Given the description of an element on the screen output the (x, y) to click on. 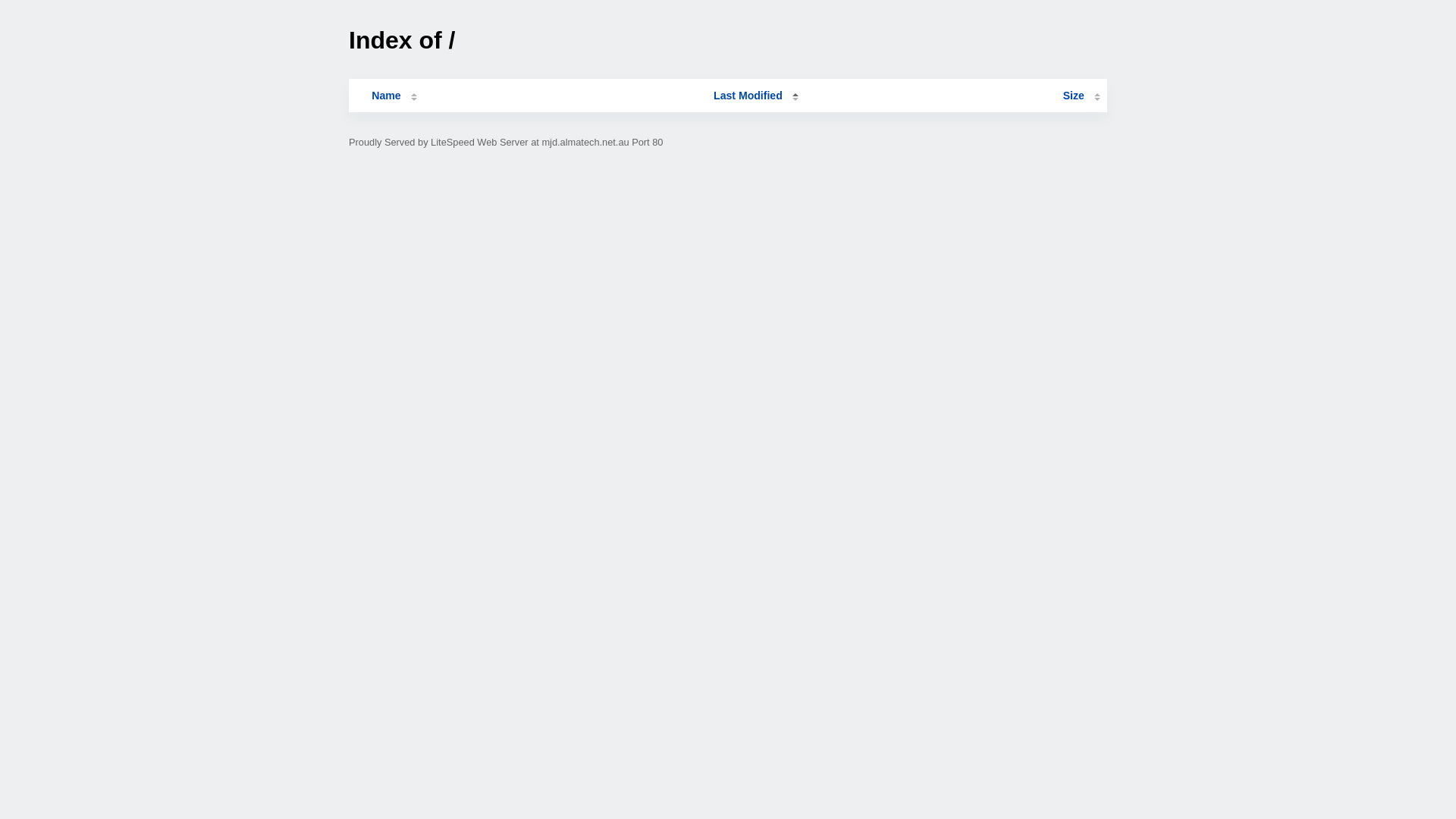
Size Element type: text (1081, 95)
Name Element type: text (385, 95)
Last Modified Element type: text (755, 95)
